Given the description of an element on the screen output the (x, y) to click on. 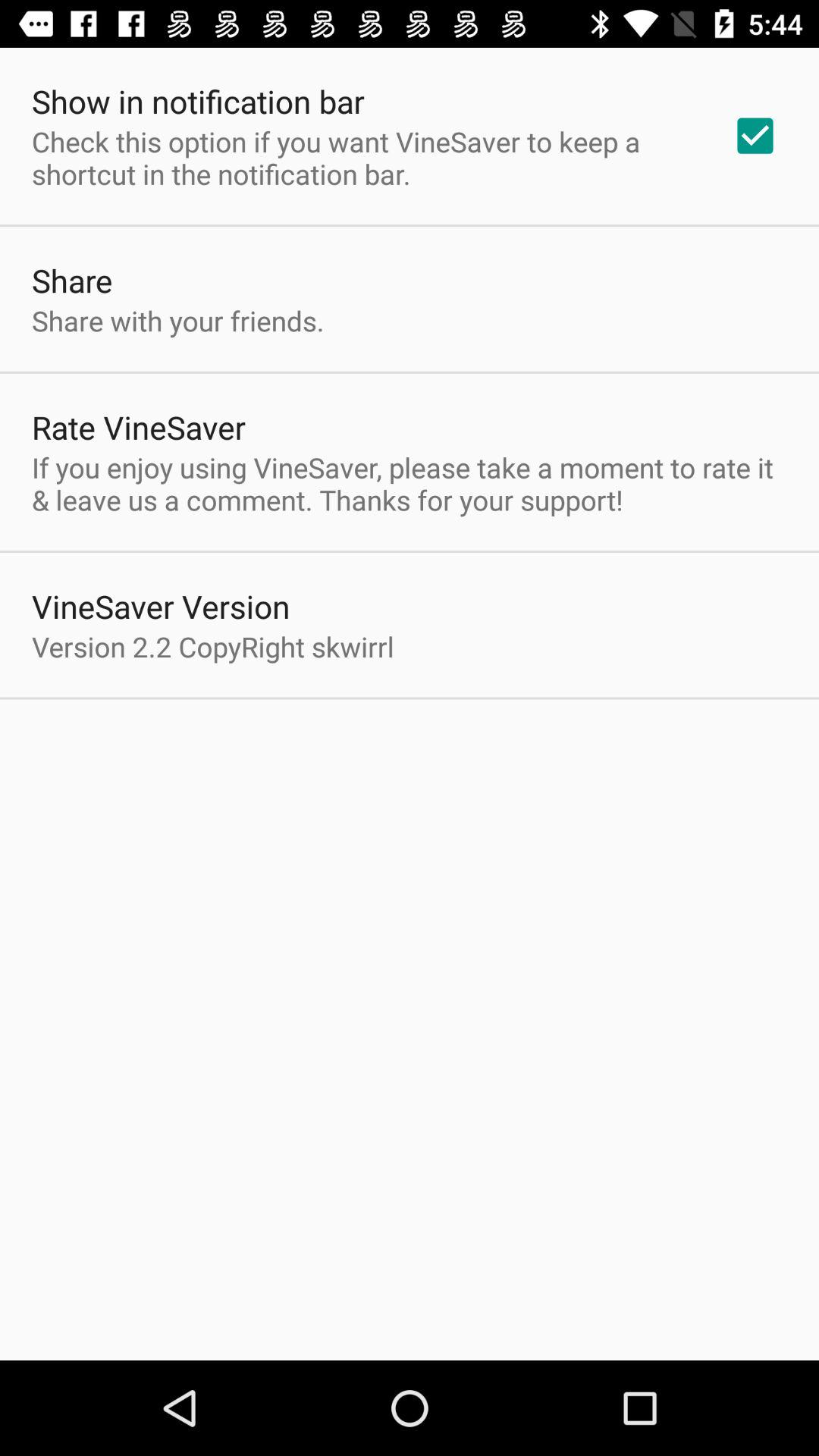
click the item above version 2 2 icon (160, 605)
